Given the description of an element on the screen output the (x, y) to click on. 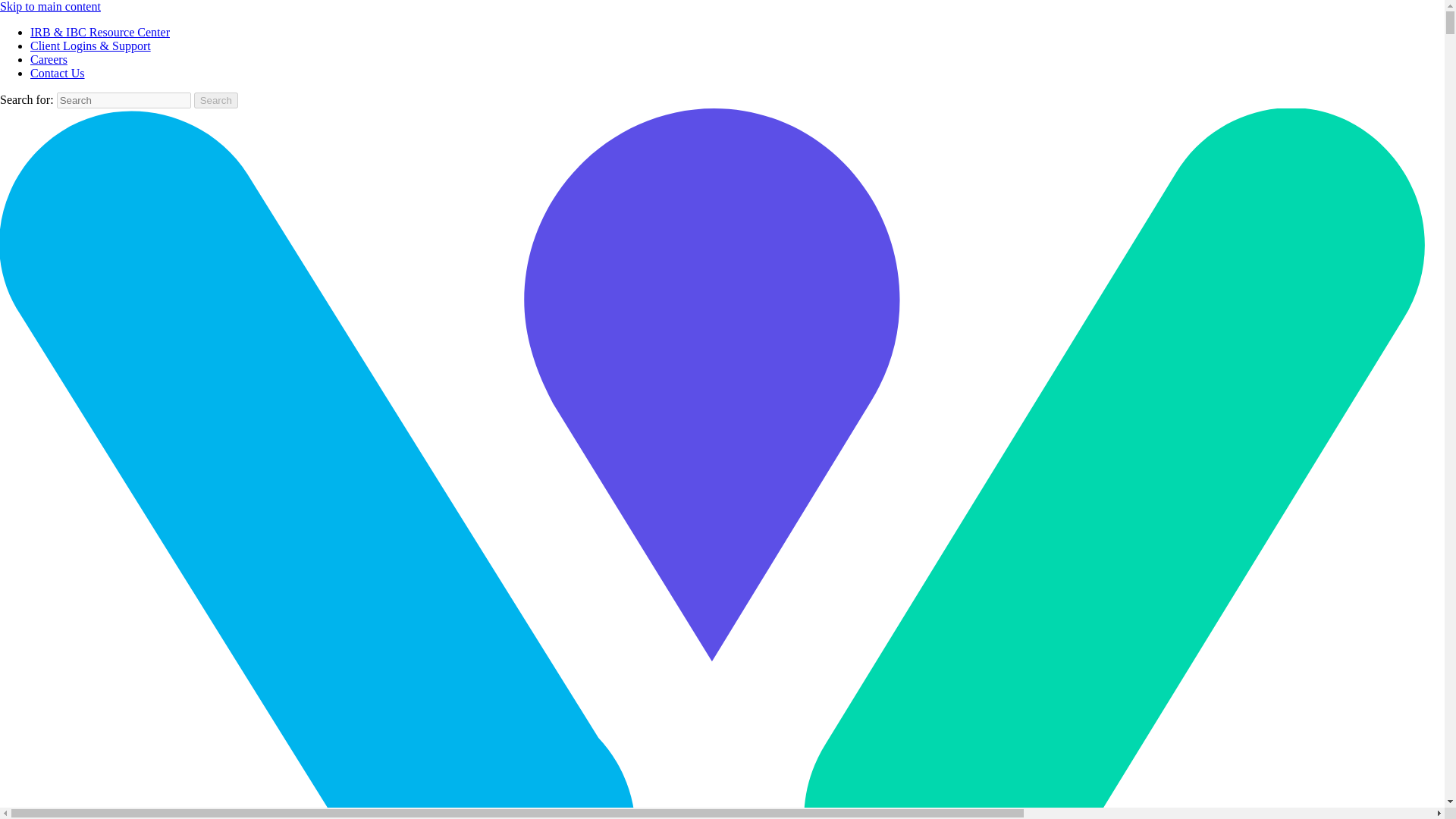
Careers (48, 59)
Search (215, 100)
Contact Us (57, 72)
Skip to main content (50, 6)
